Given the description of an element on the screen output the (x, y) to click on. 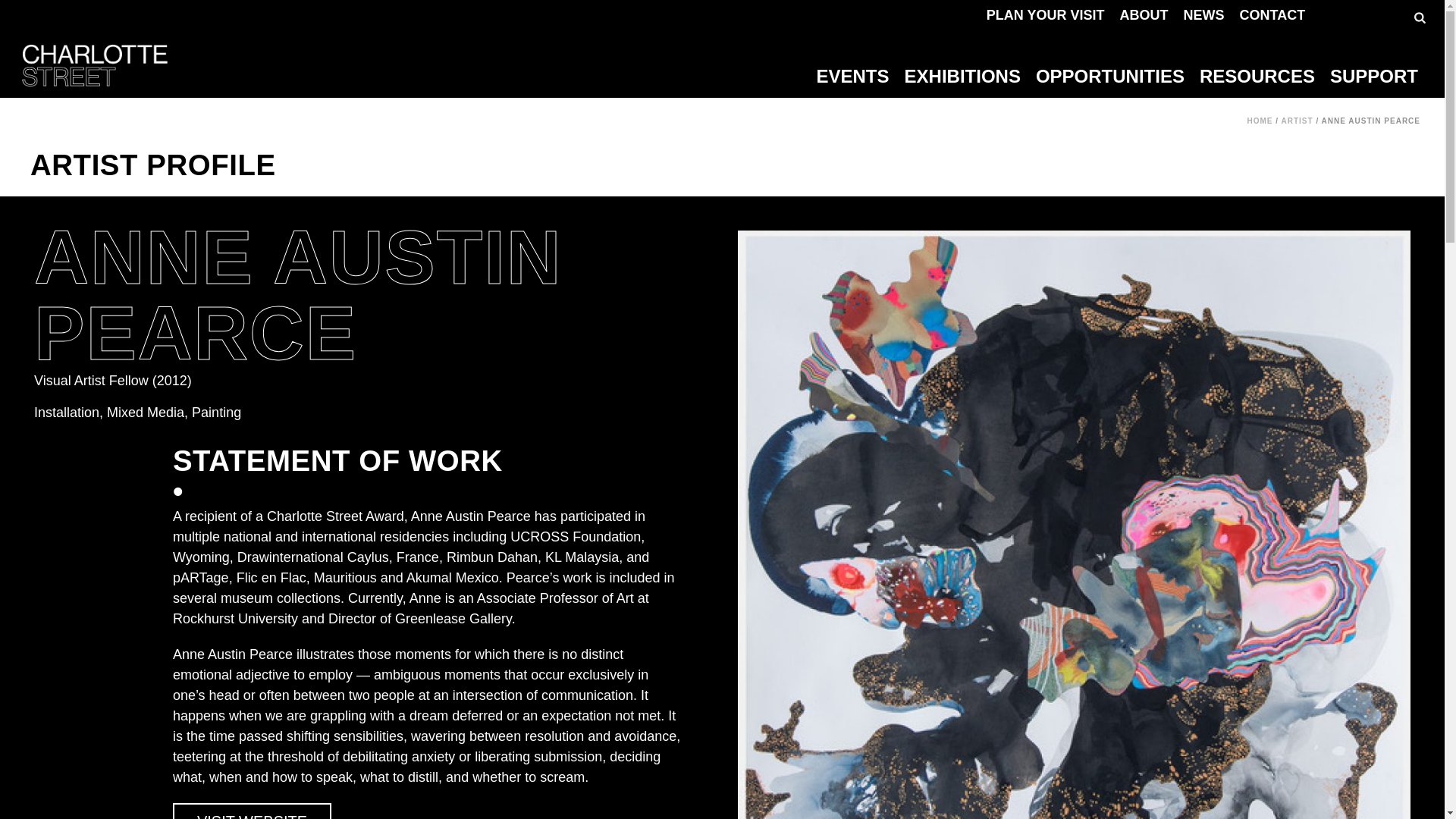
ABOUT (1144, 16)
RESOURCES (1260, 76)
CONTACT (1272, 16)
Supporting Kansas City Artists since 1997 (94, 65)
RESOURCES (1260, 76)
EVENTS (856, 76)
CONTACT (1272, 16)
EVENTS (856, 76)
NEWS (1203, 16)
NEWS (1203, 16)
SUPPORT (1377, 76)
OPPORTUNITIES (1113, 76)
EXHIBITIONS (966, 76)
EXHIBITIONS (966, 76)
ABOUT (1144, 16)
